Given the description of an element on the screen output the (x, y) to click on. 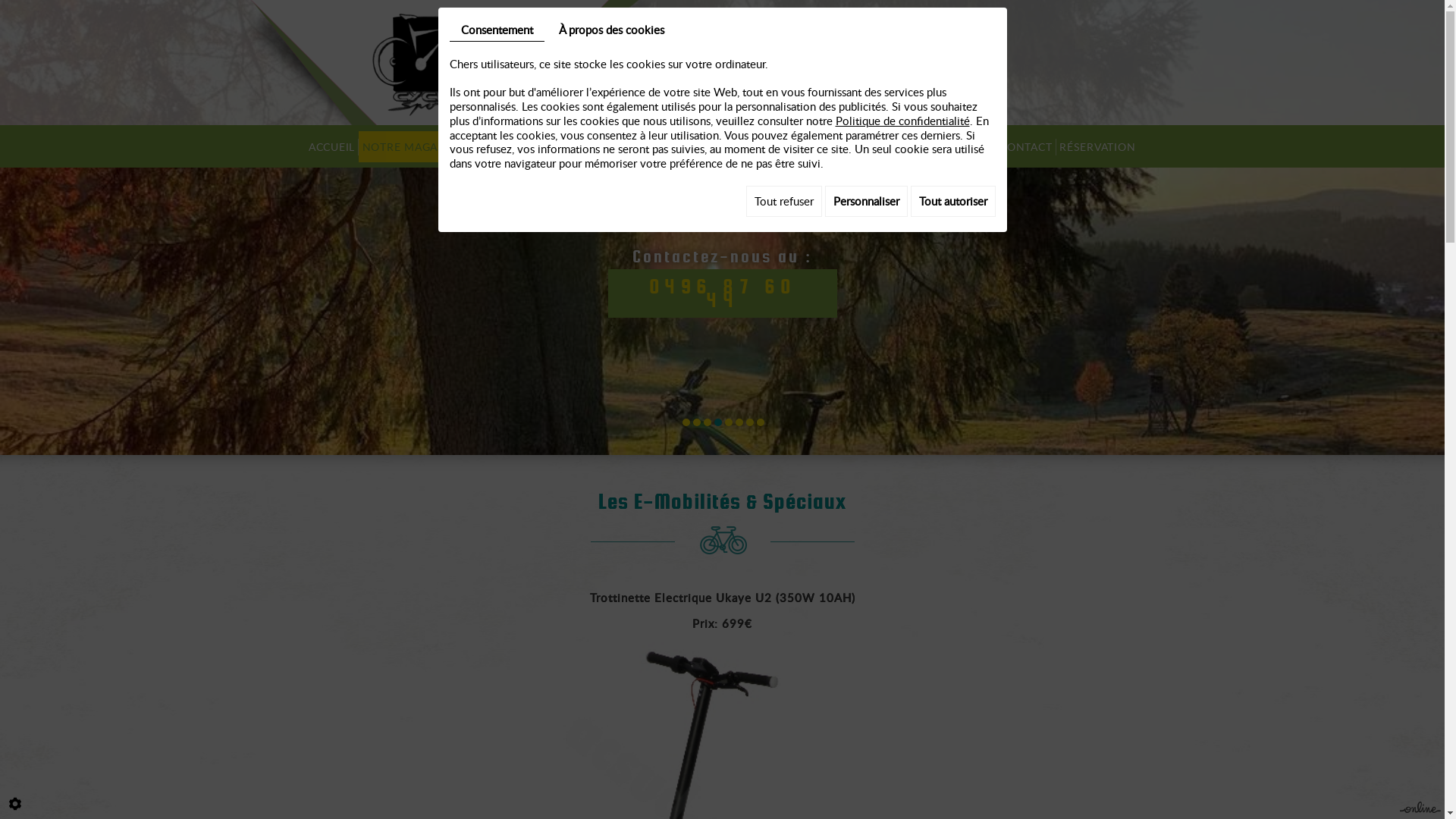
0496 87 60 44 Element type: text (722, 293)
Tout refuser Element type: text (784, 200)
NOTRE MAGASIN Element type: text (408, 146)
Tout autoriser Element type: text (952, 200)
Personnaliser Element type: text (866, 200)
BALADE NATURE Element type: text (700, 146)
Consentement Element type: text (495, 29)
ACCUEIL Element type: text (330, 146)
CONTACT Element type: text (1025, 146)
